Given the description of an element on the screen output the (x, y) to click on. 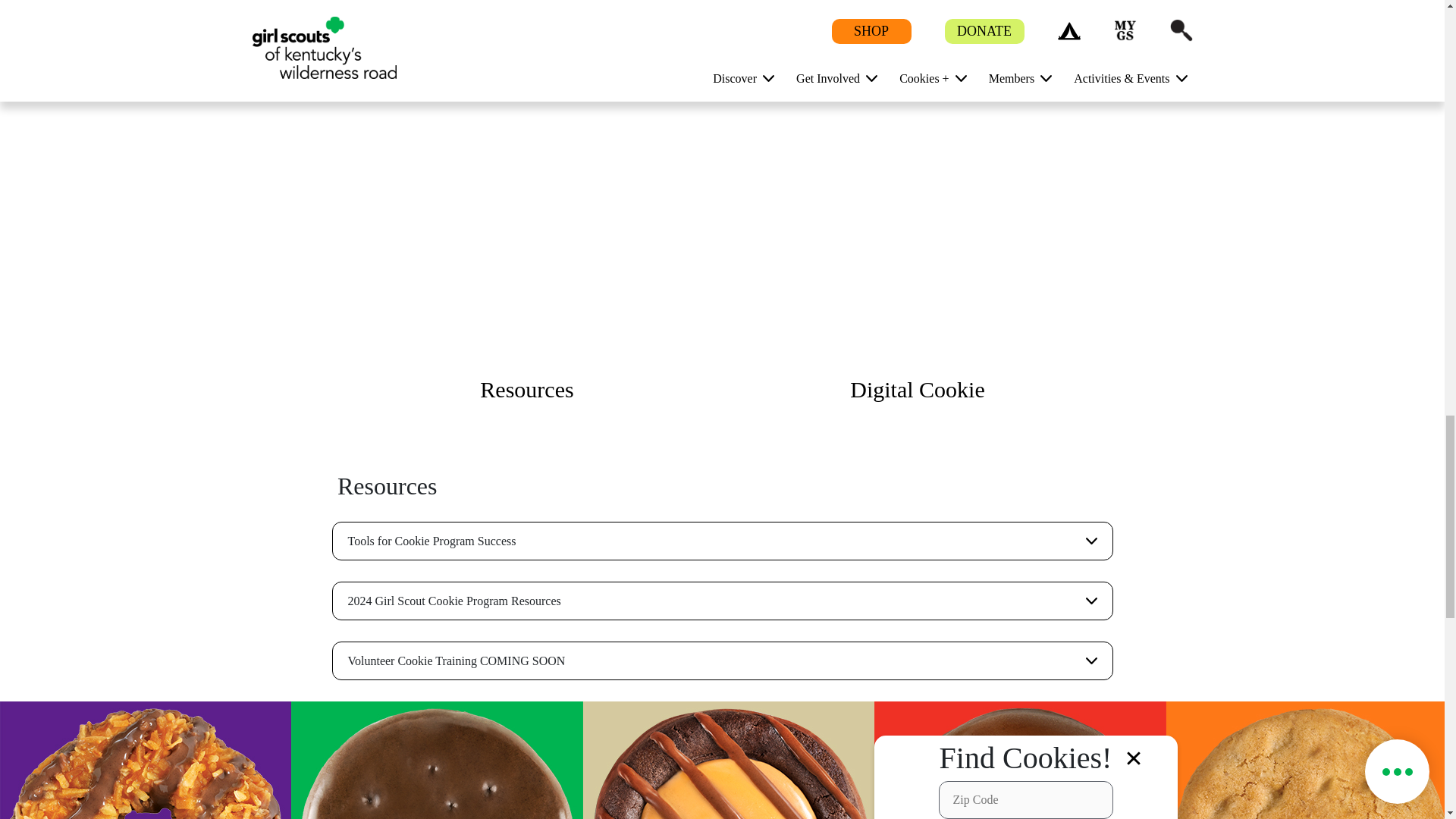
ResourcesResources (526, 191)
close Find Cookies! popup (1134, 758)
Digital CookieDigital Cookie (917, 191)
5 Number Zip Code (1026, 800)
